Given the description of an element on the screen output the (x, y) to click on. 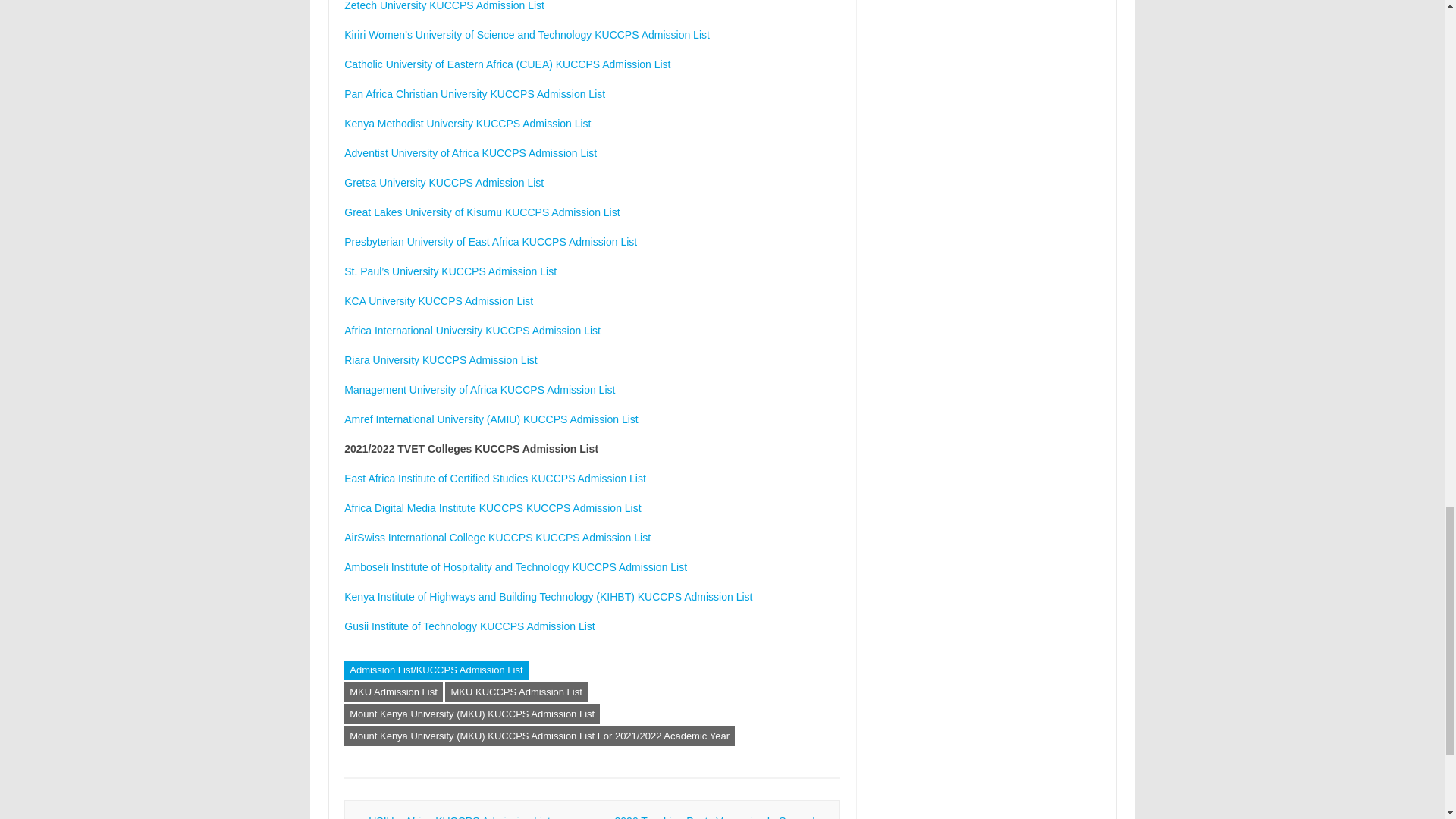
Africa International University KUCCPS Admission List (471, 330)
Kenya Methodist University KUCCPS Admission List (467, 123)
Zetech University KUCCPS Admission List (443, 5)
KCA University KUCCPS Admission List (437, 300)
Management University of Africa KUCCPS Admission List (478, 389)
Gretsa University KUCCPS Admission List (443, 182)
Riara University KUCCPS Admission List (440, 359)
Adventist University of Africa KUCCPS Admission List (469, 152)
Pan Africa Christian University KUCCPS Admission List (474, 93)
Great Lakes University of Kisumu KUCCPS Admission List (481, 212)
Presbyterian University of East Africa KUCCPS Admission List (490, 241)
